Given the description of an element on the screen output the (x, y) to click on. 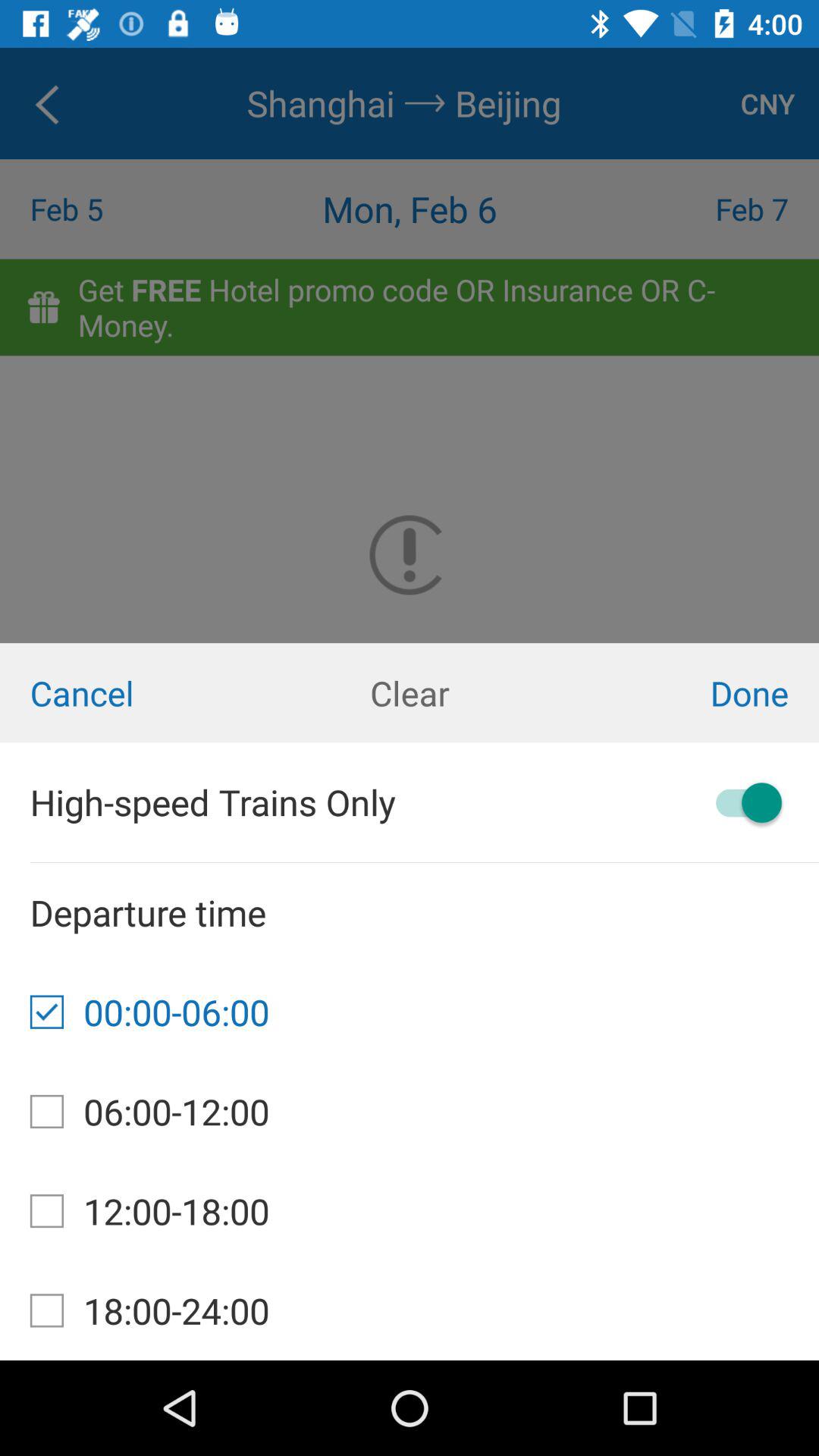
toggle preference button (741, 802)
